Given the description of an element on the screen output the (x, y) to click on. 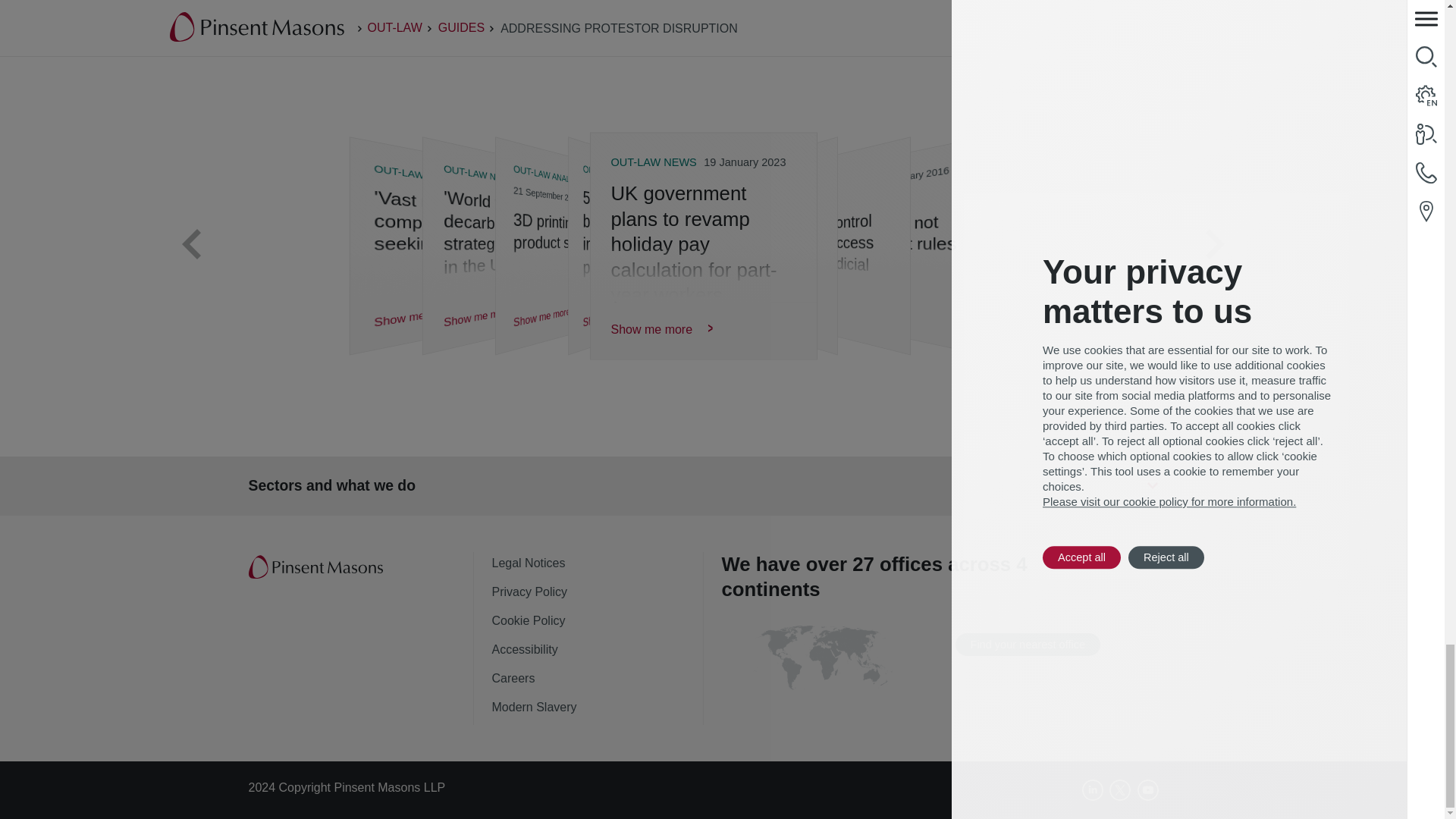
Pinsent Masons LinkedIn (1092, 789)
Pinsent Masons (316, 567)
Pinsent Masons Twitter (1120, 789)
